Given the description of an element on the screen output the (x, y) to click on. 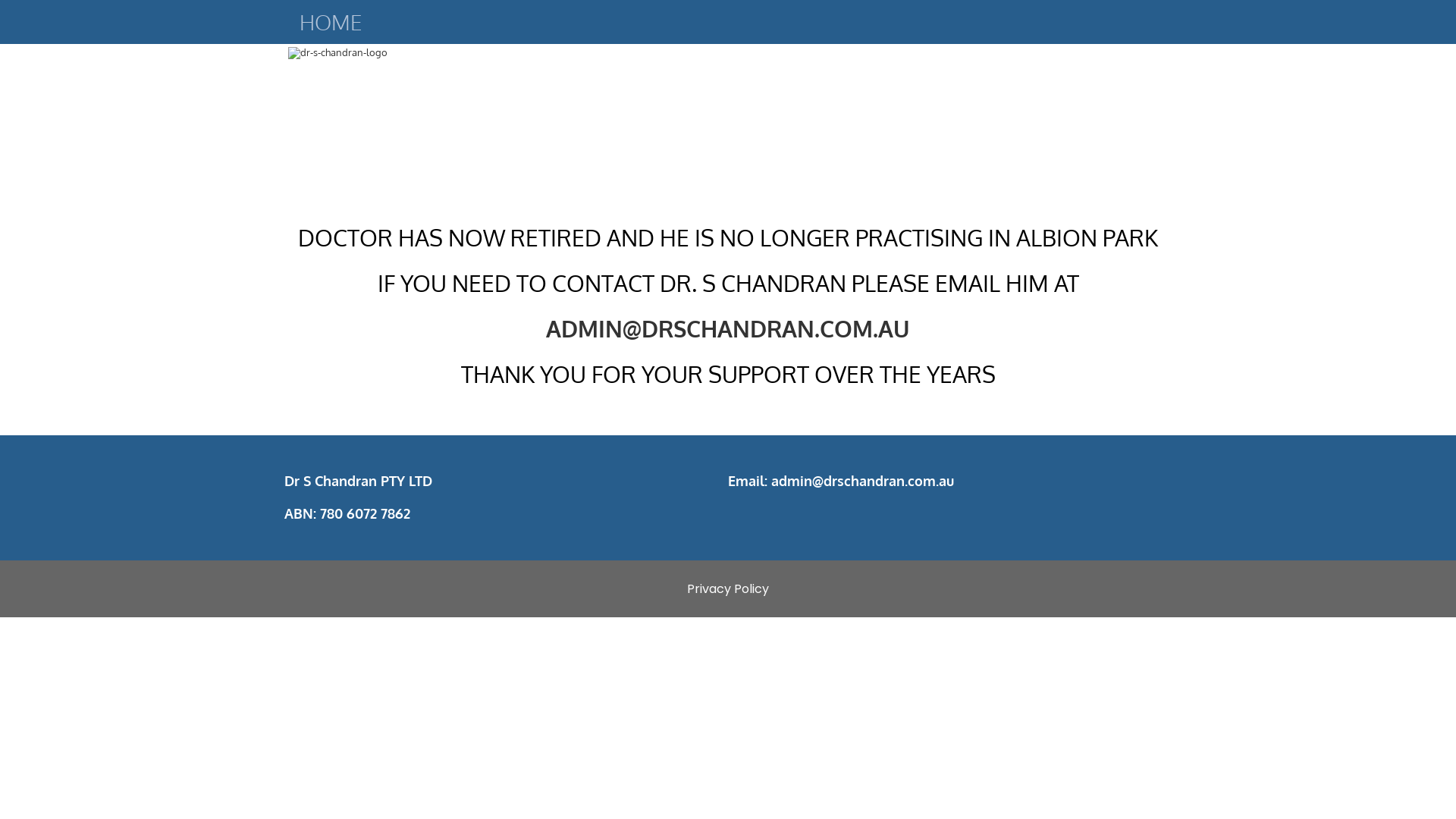
dr-s-chandran-logo Element type: hover (506, 109)
admin@drschandran.com.au Element type: text (862, 480)
HOME Element type: text (330, 21)
ADMIN@DRSCHANDRAN.COM.AU Element type: text (728, 327)
Privacy Policy Element type: text (727, 588)
